Given the description of an element on the screen output the (x, y) to click on. 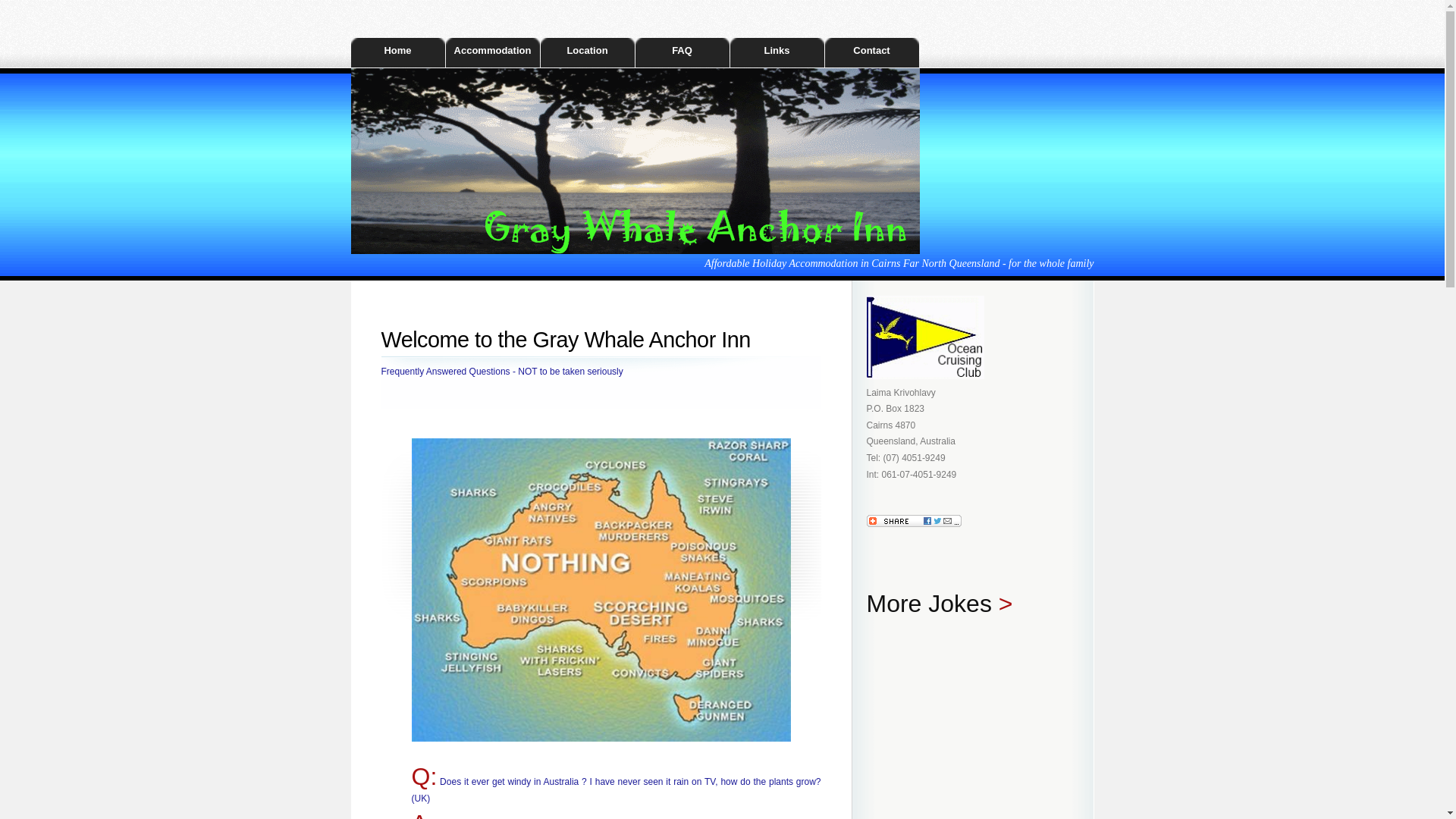
FAQ Element type: text (682, 52)
Location Element type: text (586, 52)
> Element type: text (1005, 608)
Home Element type: text (397, 52)
Accommodation Element type: text (492, 52)
Contact Element type: text (872, 52)
Links Element type: text (776, 52)
